Given the description of an element on the screen output the (x, y) to click on. 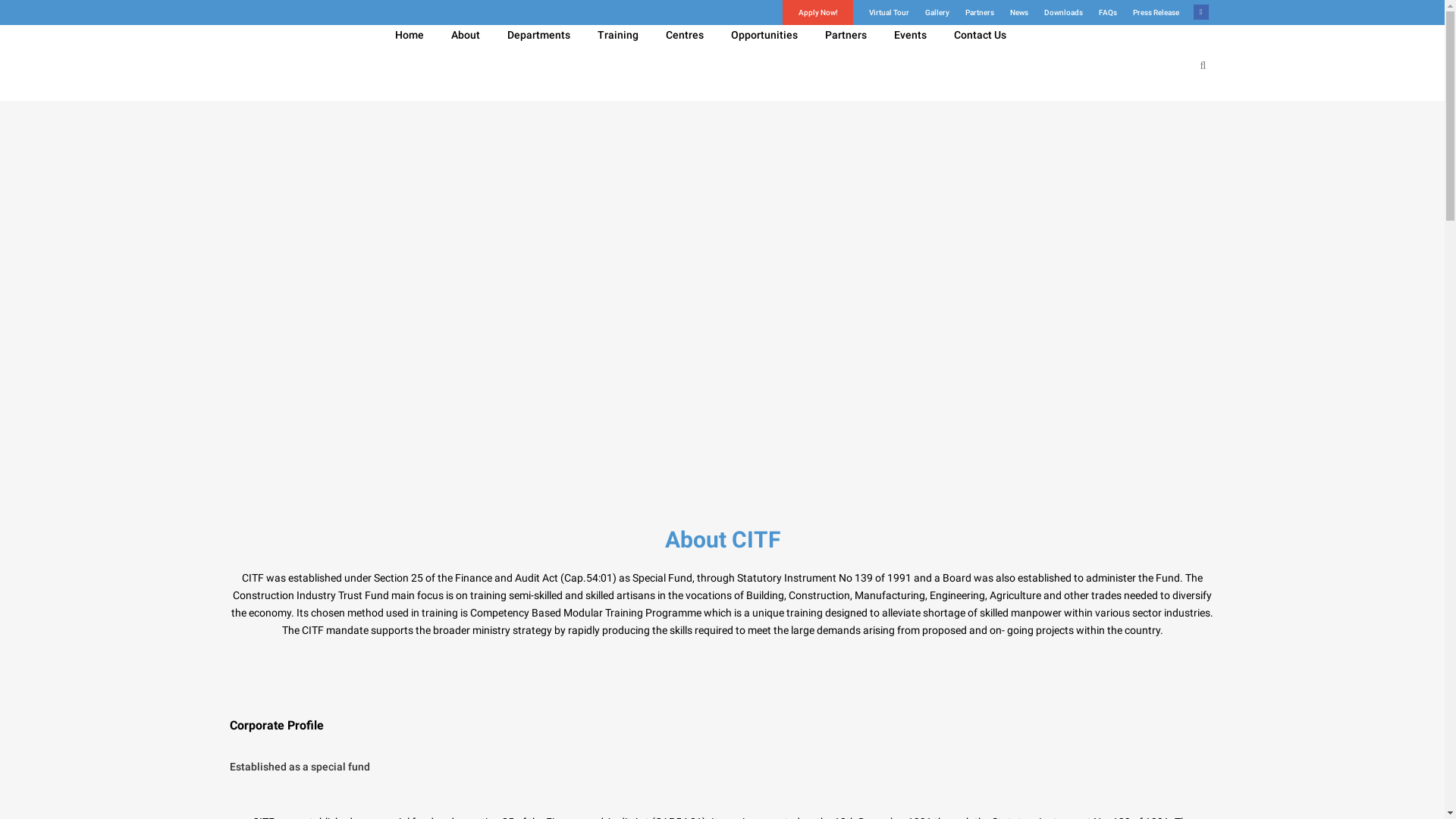
News Element type: text (1010, 12)
Gallery Element type: text (928, 12)
Training Element type: text (617, 34)
Press Release Element type: text (1147, 12)
Partners Element type: text (845, 34)
Contact Us Element type: text (979, 34)
Partners Element type: text (971, 12)
Virtual Tour Element type: text (880, 12)
Opportunities Element type: text (764, 34)
Apply Now! Element type: text (809, 12)
About Element type: text (464, 34)
Events Element type: text (909, 34)
Departments Element type: text (537, 34)
Centres Element type: text (684, 34)
Home Element type: text (408, 34)
Downloads Element type: text (1055, 12)
FAQs Element type: text (1099, 12)
